Given the description of an element on the screen output the (x, y) to click on. 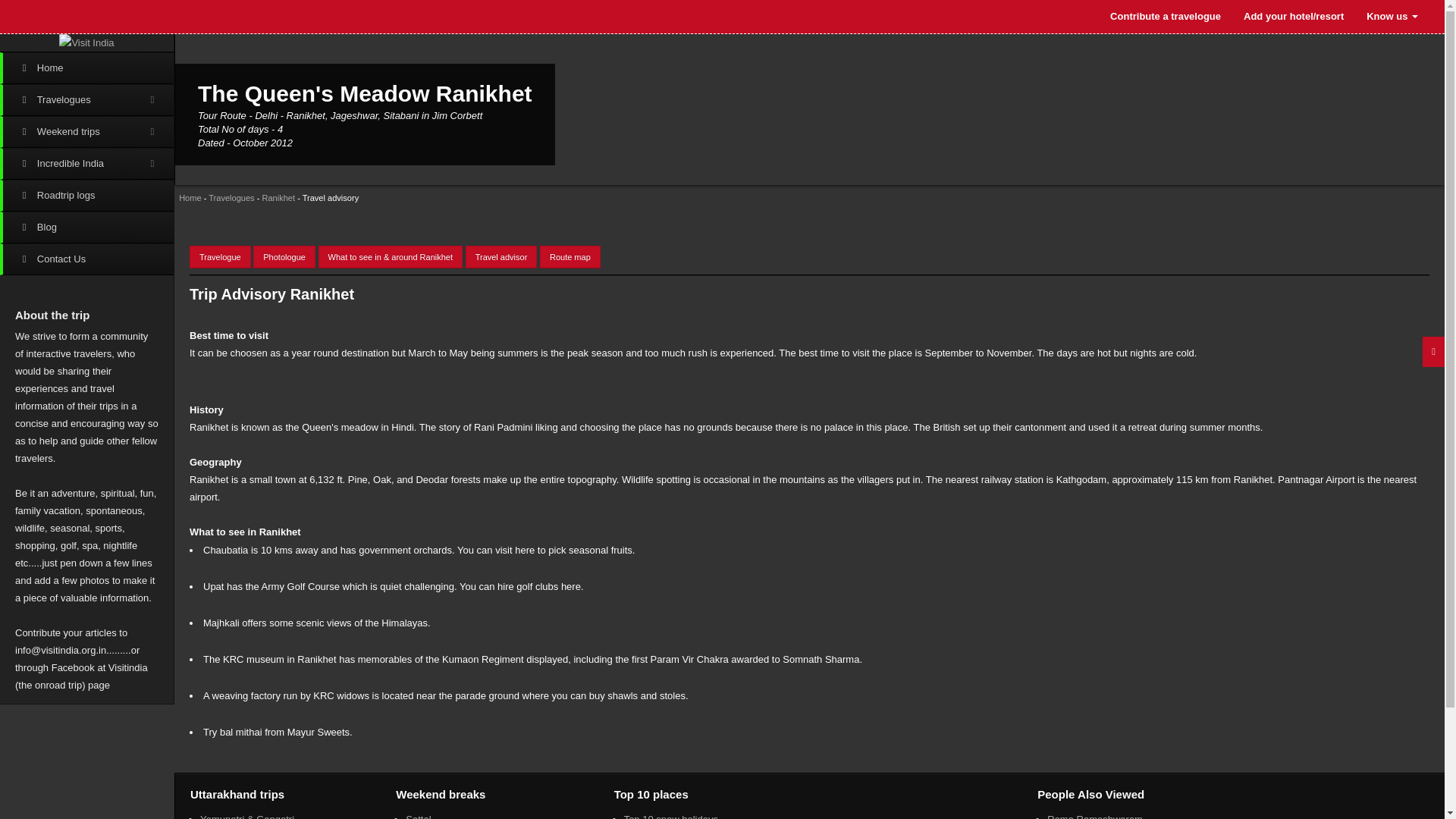
Know us (1392, 16)
Contact Us (86, 259)
Travelogues (230, 197)
Ranikhet (278, 197)
Incredible India (86, 163)
Weekend trips (86, 132)
Contribute a travelogue (1165, 16)
Home (86, 68)
Travelogues (86, 100)
Blog (86, 227)
